Given the description of an element on the screen output the (x, y) to click on. 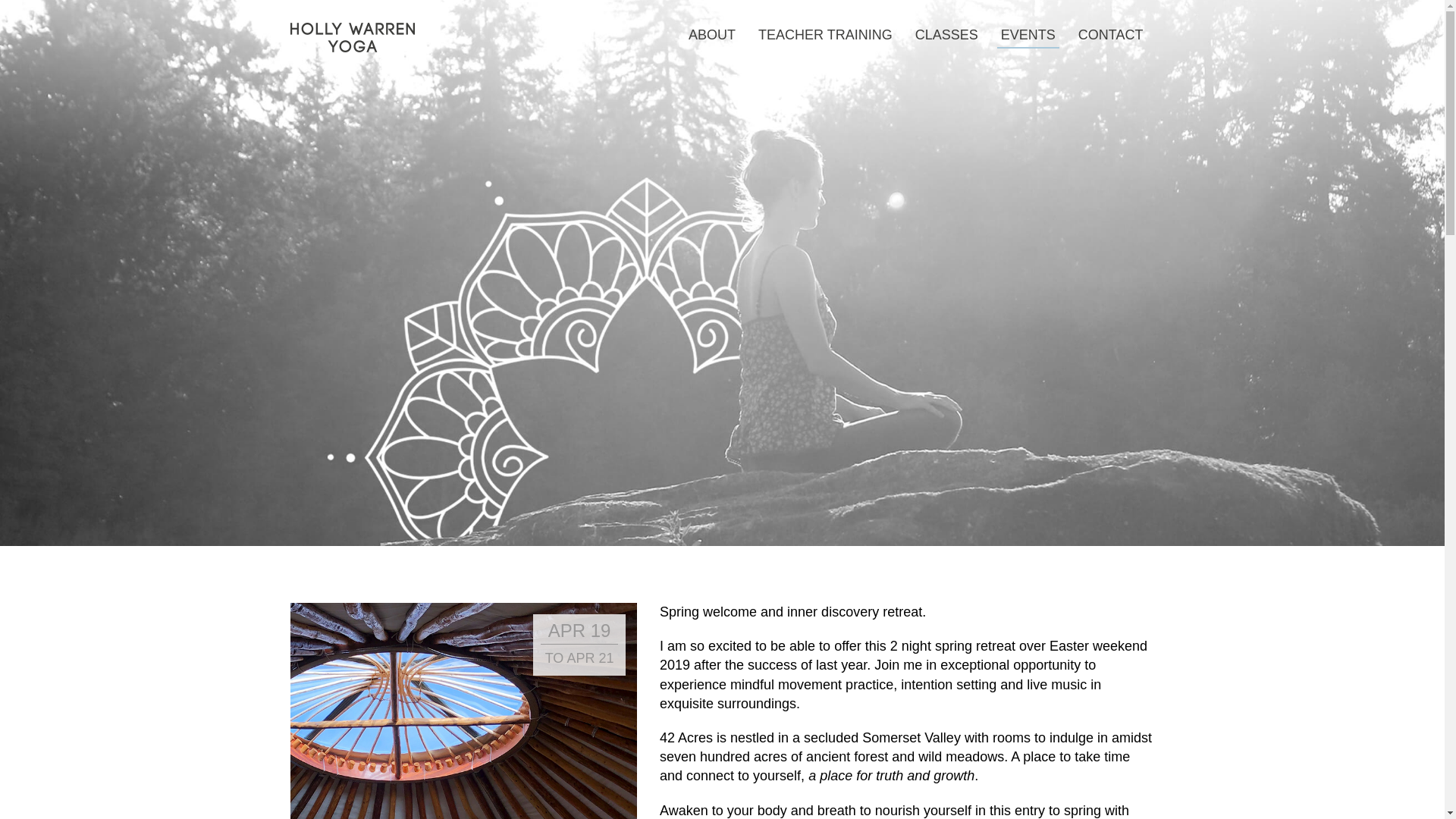
ABOUT (711, 35)
TEACHER TRAINING (825, 35)
EVENTS (1028, 35)
CONTACT (1110, 35)
CLASSES (946, 35)
